Given the description of an element on the screen output the (x, y) to click on. 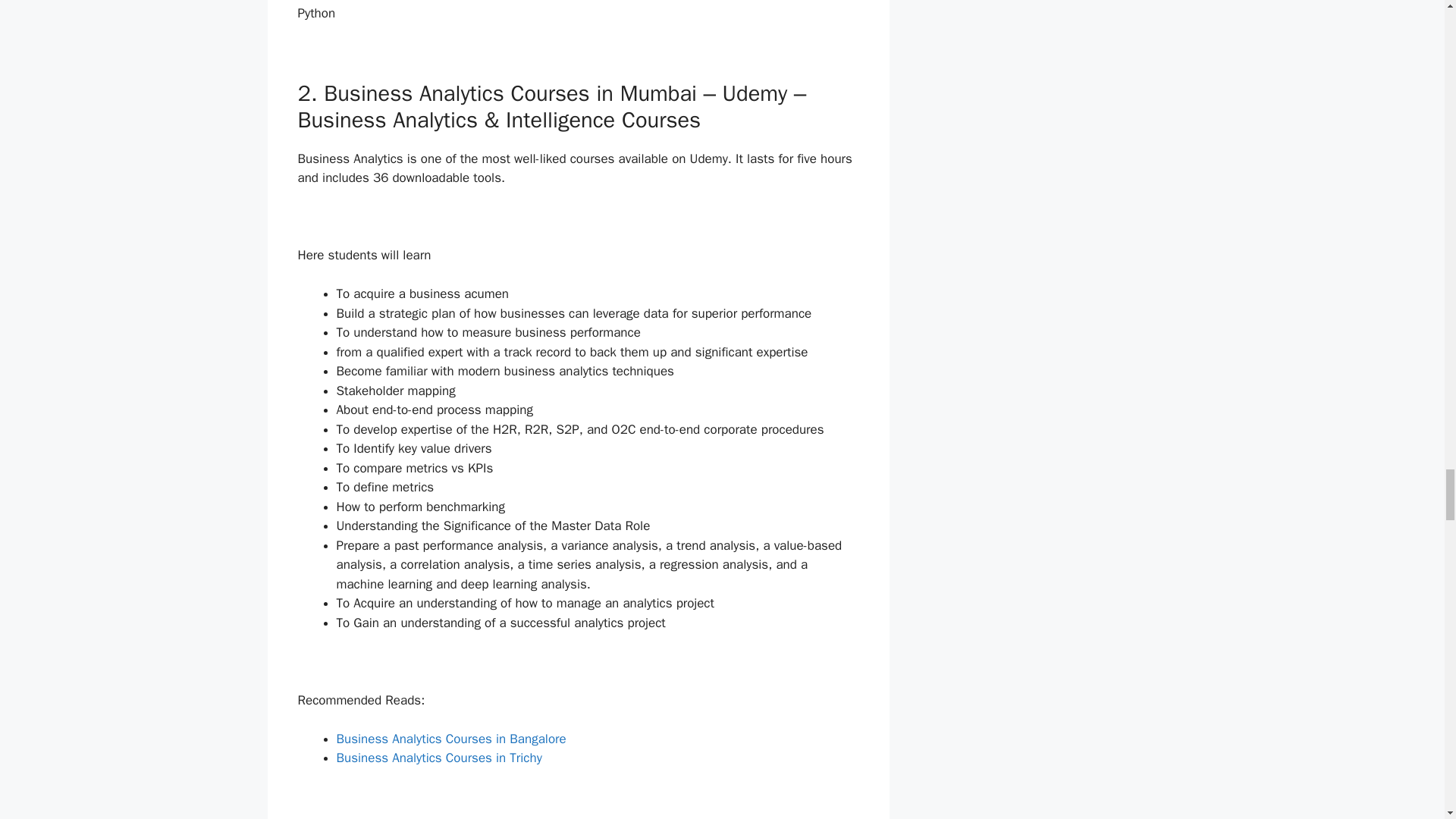
Business Analytics Courses in Bangalore (451, 738)
Business Analytics Courses in Trichy (438, 757)
